Given the description of an element on the screen output the (x, y) to click on. 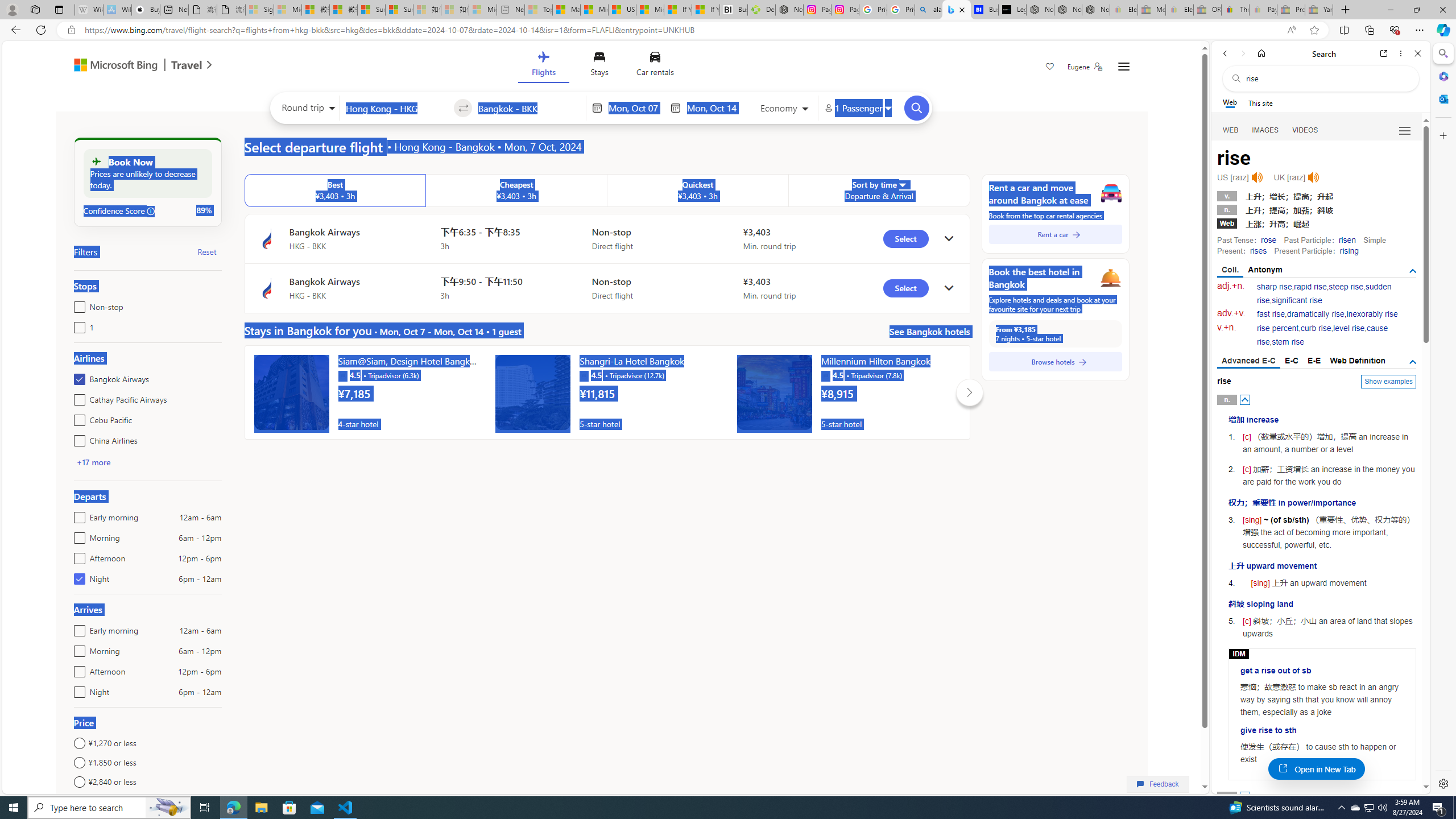
level rise (1349, 328)
End date (713, 107)
alabama high school quarterback dies - Search (928, 9)
Flight logo (267, 287)
AutomationID: tgsb (1412, 270)
1 Passenger (857, 108)
rise percent (1277, 328)
